Given the description of an element on the screen output the (x, y) to click on. 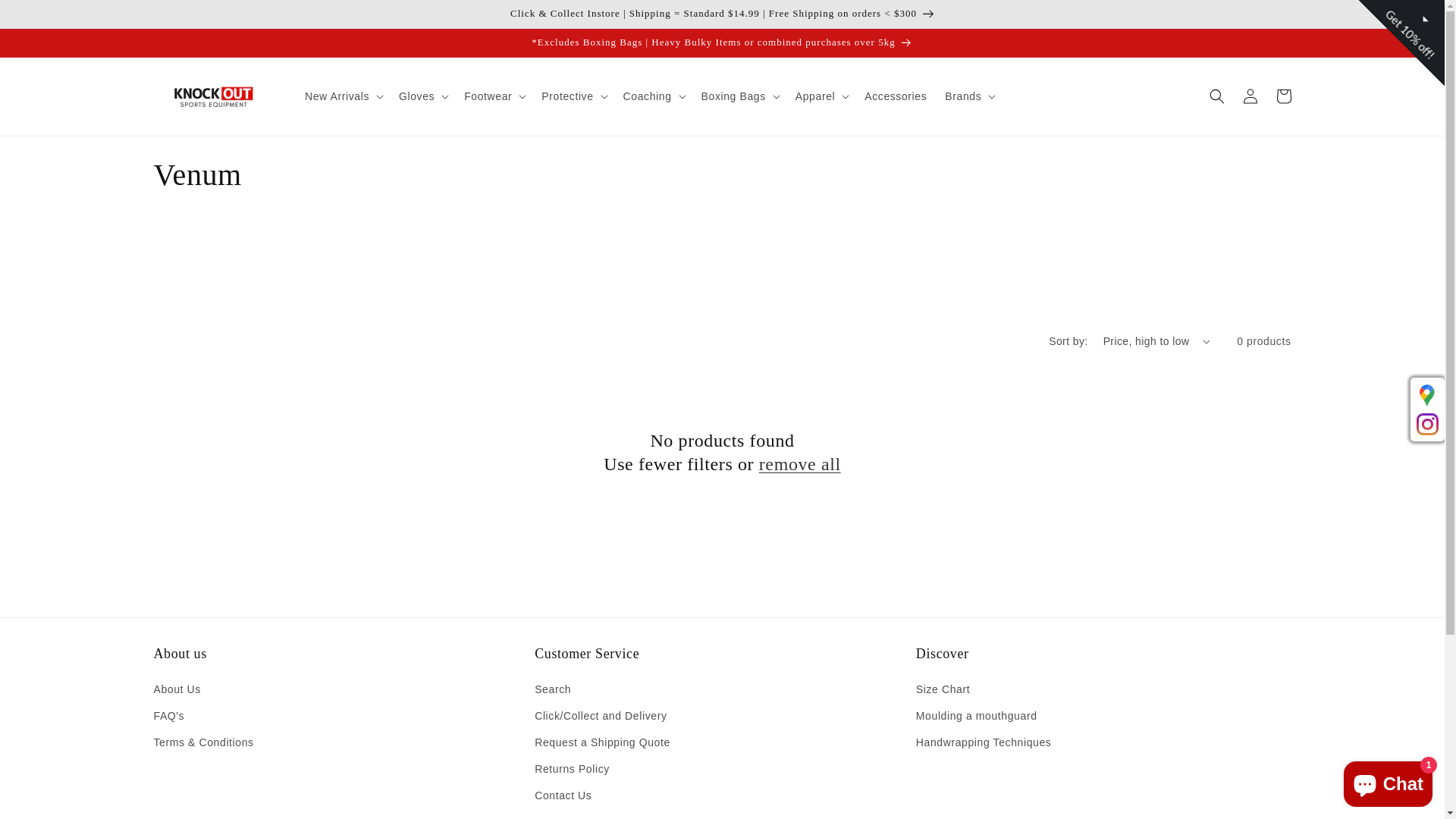
Shopify online store chat Element type: hover (1388, 780)
Moulding a mouthguard Element type: text (976, 715)
Returns Policy Element type: text (571, 769)
Contact Us Element type: text (562, 795)
Accessories Element type: text (895, 96)
FAQ's Element type: text (168, 715)
Handwrapping Techniques Element type: text (983, 742)
Request a Shipping Quote Element type: text (602, 742)
Log in Element type: text (1249, 95)
Click/Collect and Delivery Element type: text (600, 715)
remove all Element type: text (799, 464)
Search Element type: text (552, 691)
About Us Element type: text (176, 691)
Terms & Conditions Element type: text (203, 742)
Cart Element type: text (1282, 95)
Size Chart Element type: text (942, 691)
